Given the description of an element on the screen output the (x, y) to click on. 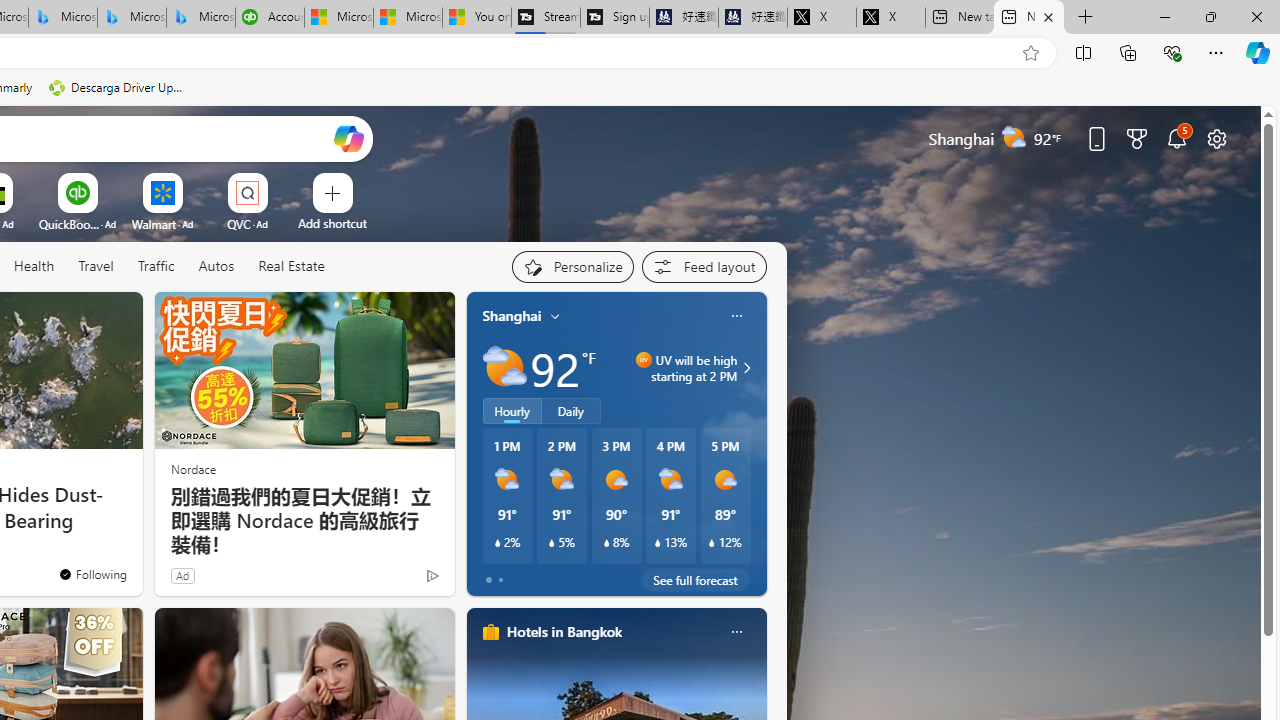
Open Copilot (347, 138)
Collections (1128, 52)
My location (555, 315)
